Given the description of an element on the screen output the (x, y) to click on. 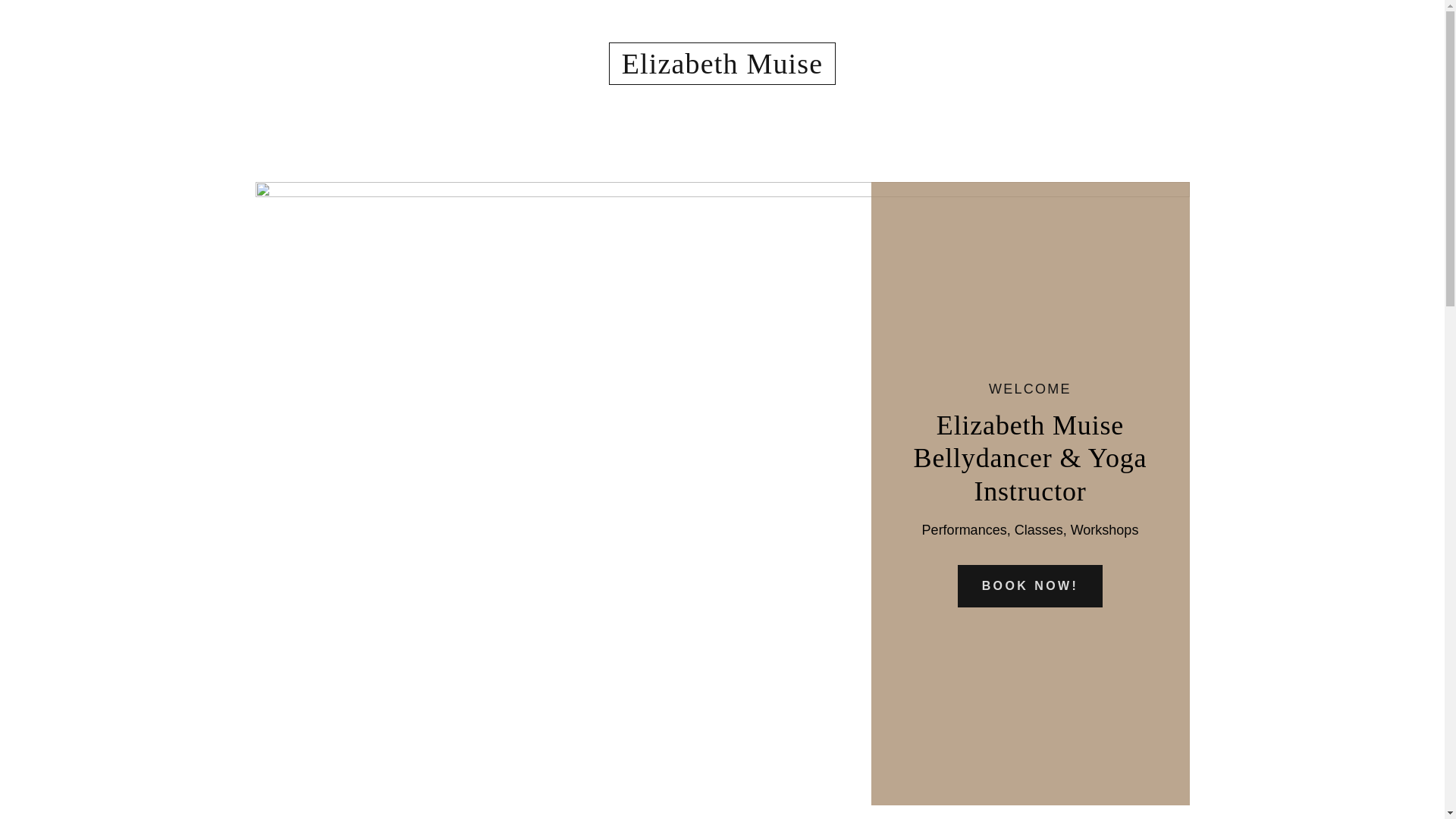
Elizabeth Muise (721, 68)
Elizabeth Muise (721, 68)
BOOK NOW! (1030, 586)
